Given the description of an element on the screen output the (x, y) to click on. 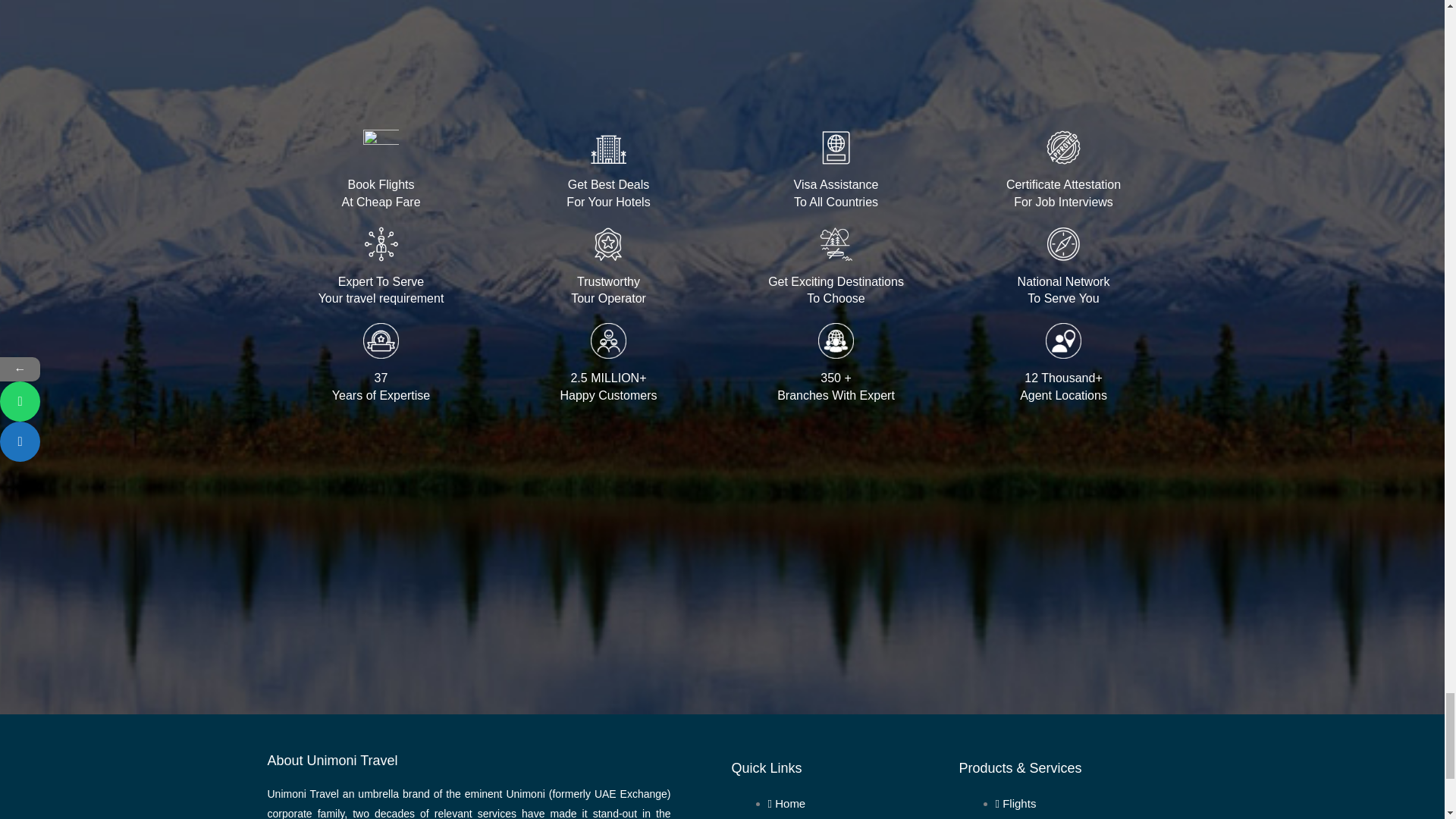
Flights (1015, 802)
Home (787, 802)
